Given the description of an element on the screen output the (x, y) to click on. 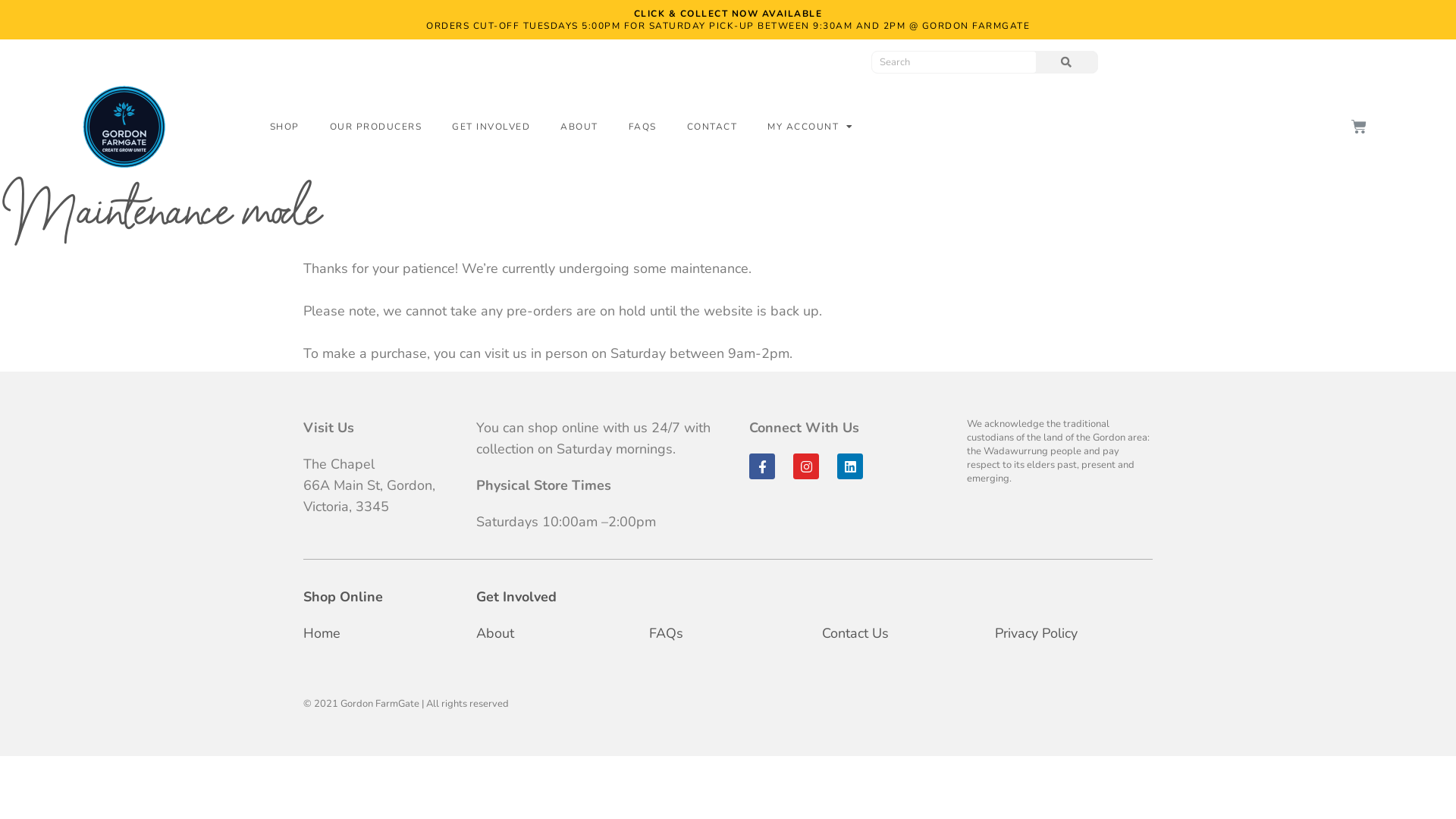
Search Element type: hover (953, 61)
MY ACCOUNT Element type: text (810, 126)
SHOP Element type: text (284, 126)
OUR PRODUCERS Element type: text (375, 126)
Contact Us Element type: text (855, 633)
Get Involved Element type: text (516, 596)
Home Element type: text (321, 633)
Shop Online Element type: text (342, 596)
FAQs Element type: text (666, 633)
About Element type: text (495, 633)
cropped-GFG-Logo-1-2-e1578872429667-3.png Element type: hover (123, 126)
FAQS Element type: text (642, 126)
GET INVOLVED Element type: text (490, 126)
Search Element type: hover (1066, 61)
ABOUT Element type: text (579, 126)
Privacy Policy Element type: text (1035, 633)
CONTACT Element type: text (712, 126)
